Given the description of an element on the screen output the (x, y) to click on. 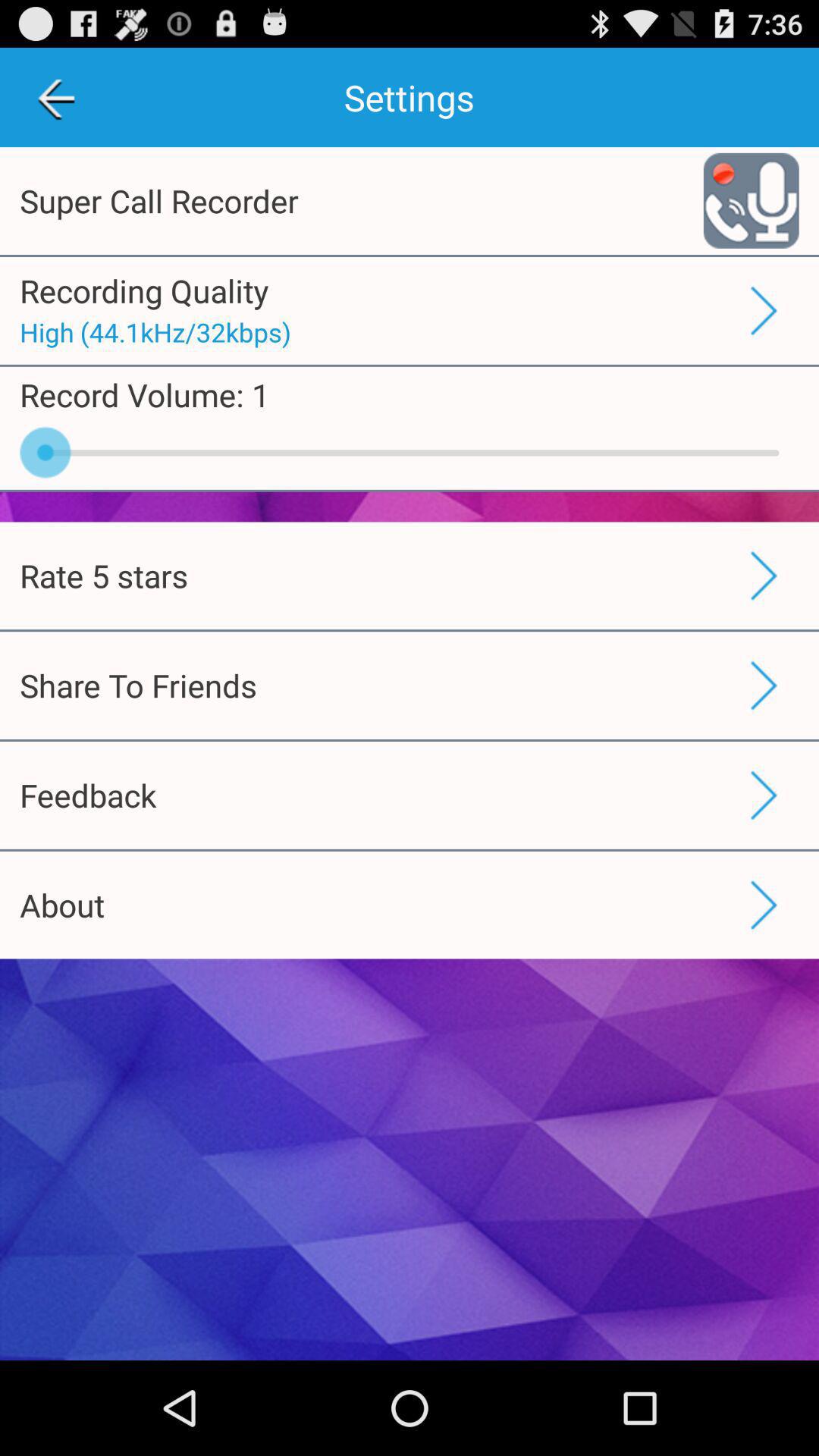
press the icon above super call recorder app (55, 97)
